Given the description of an element on the screen output the (x, y) to click on. 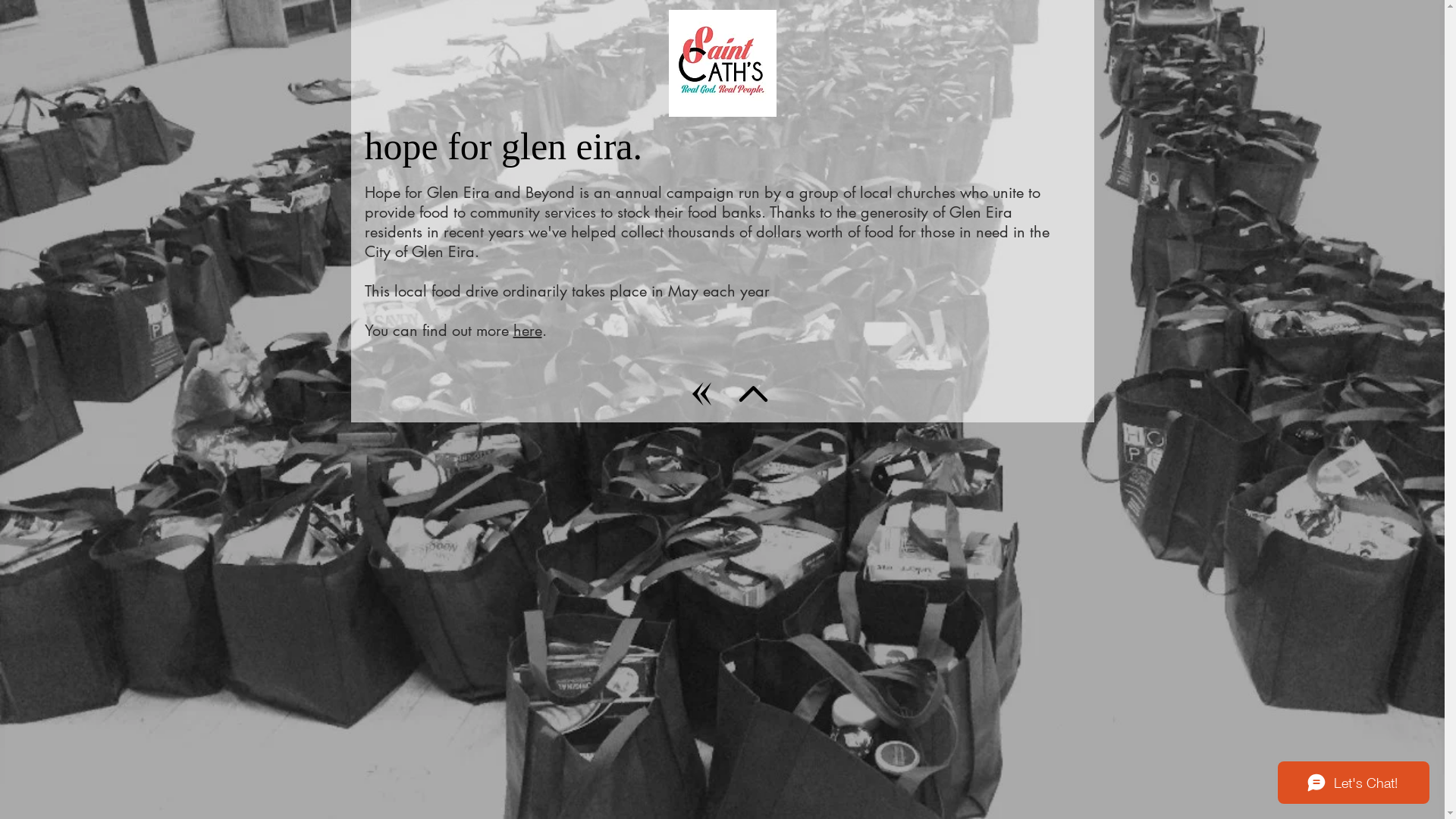
here Element type: text (526, 330)
Click to return to home page Element type: hover (722, 62)
